Given the description of an element on the screen output the (x, y) to click on. 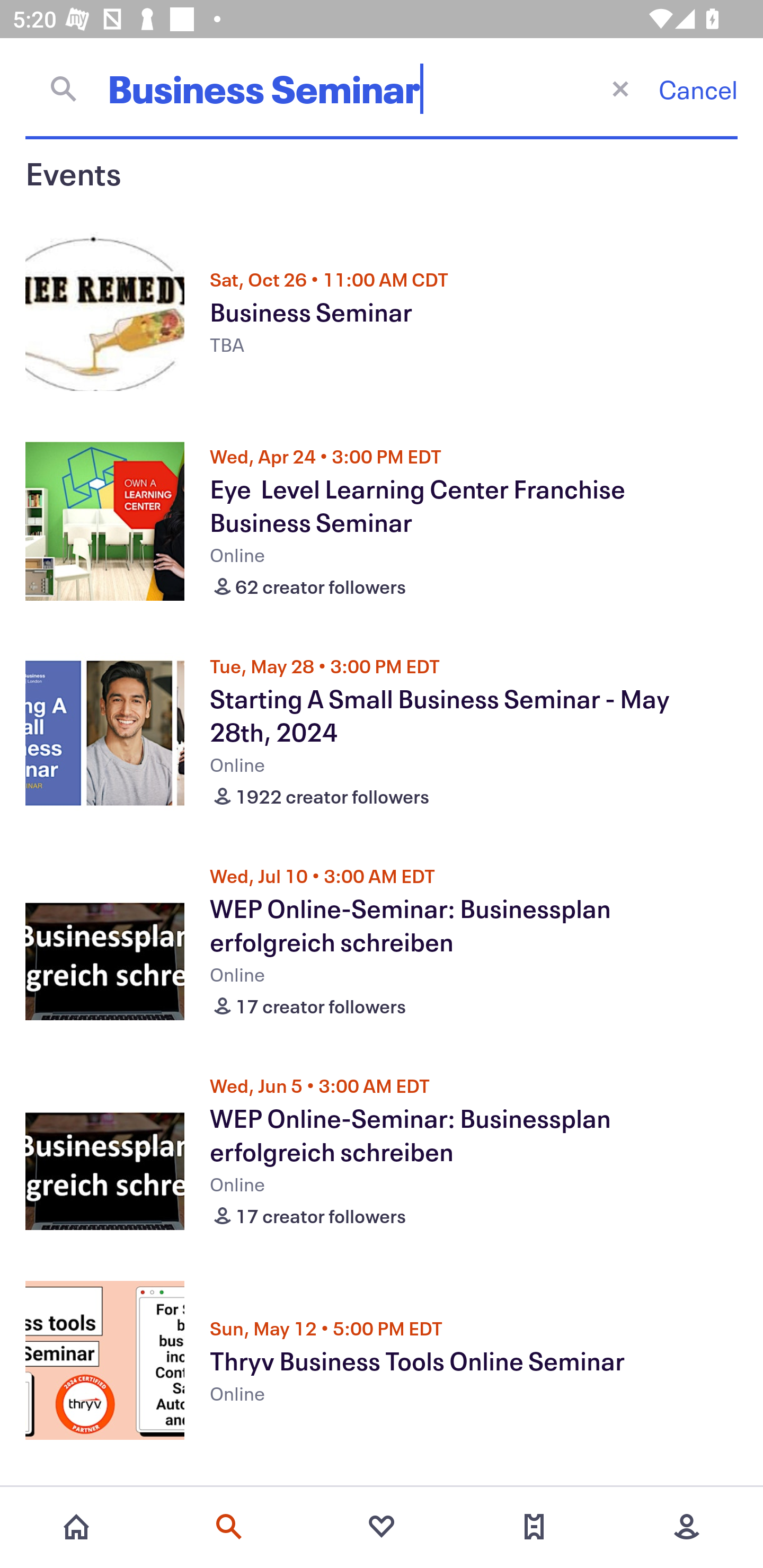
Business Seminar Close current screen Cancel (381, 88)
Close current screen (620, 88)
Cancel (697, 89)
Home (76, 1526)
Search events (228, 1526)
Favorites (381, 1526)
Tickets (533, 1526)
More (686, 1526)
